Given the description of an element on the screen output the (x, y) to click on. 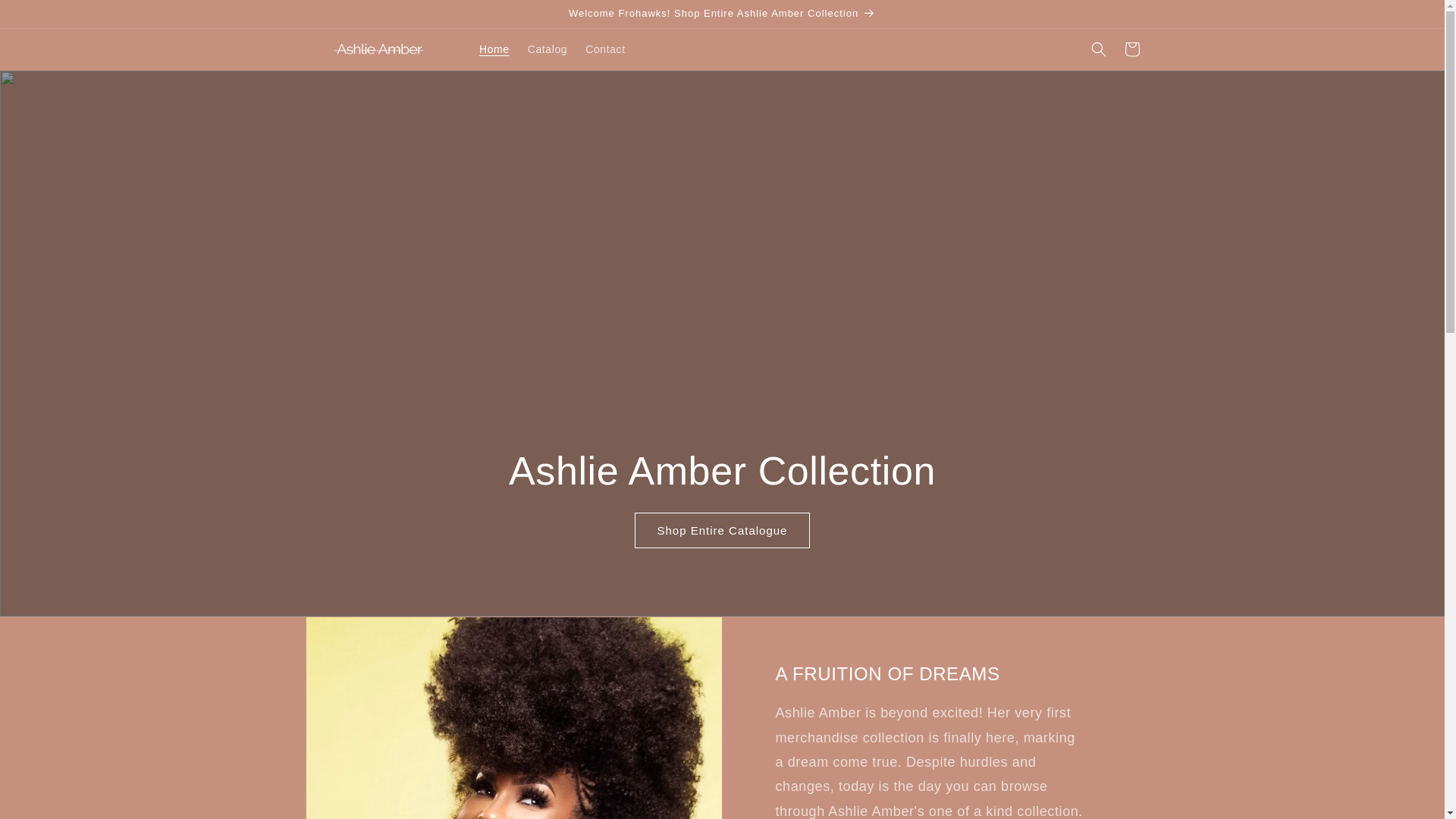
Catalog (547, 49)
Cart (1131, 49)
Contact (604, 49)
Home (494, 49)
Skip to content (45, 17)
Shop Entire Catalogue (722, 529)
